Given the description of an element on the screen output the (x, y) to click on. 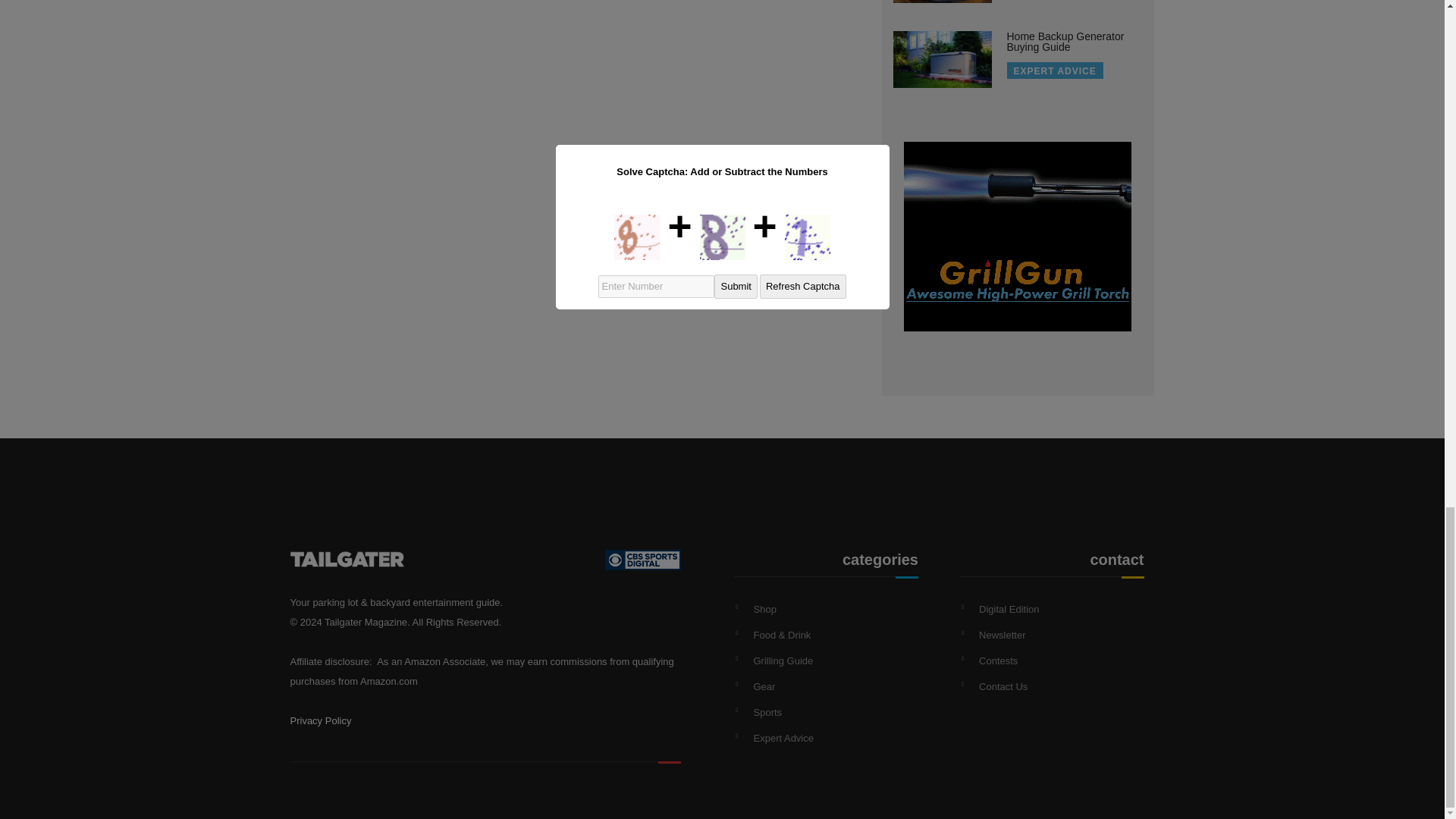
Privacy Policy (319, 720)
Home Backup Generator Buying Guide (1065, 41)
Shop (765, 609)
